Given the description of an element on the screen output the (x, y) to click on. 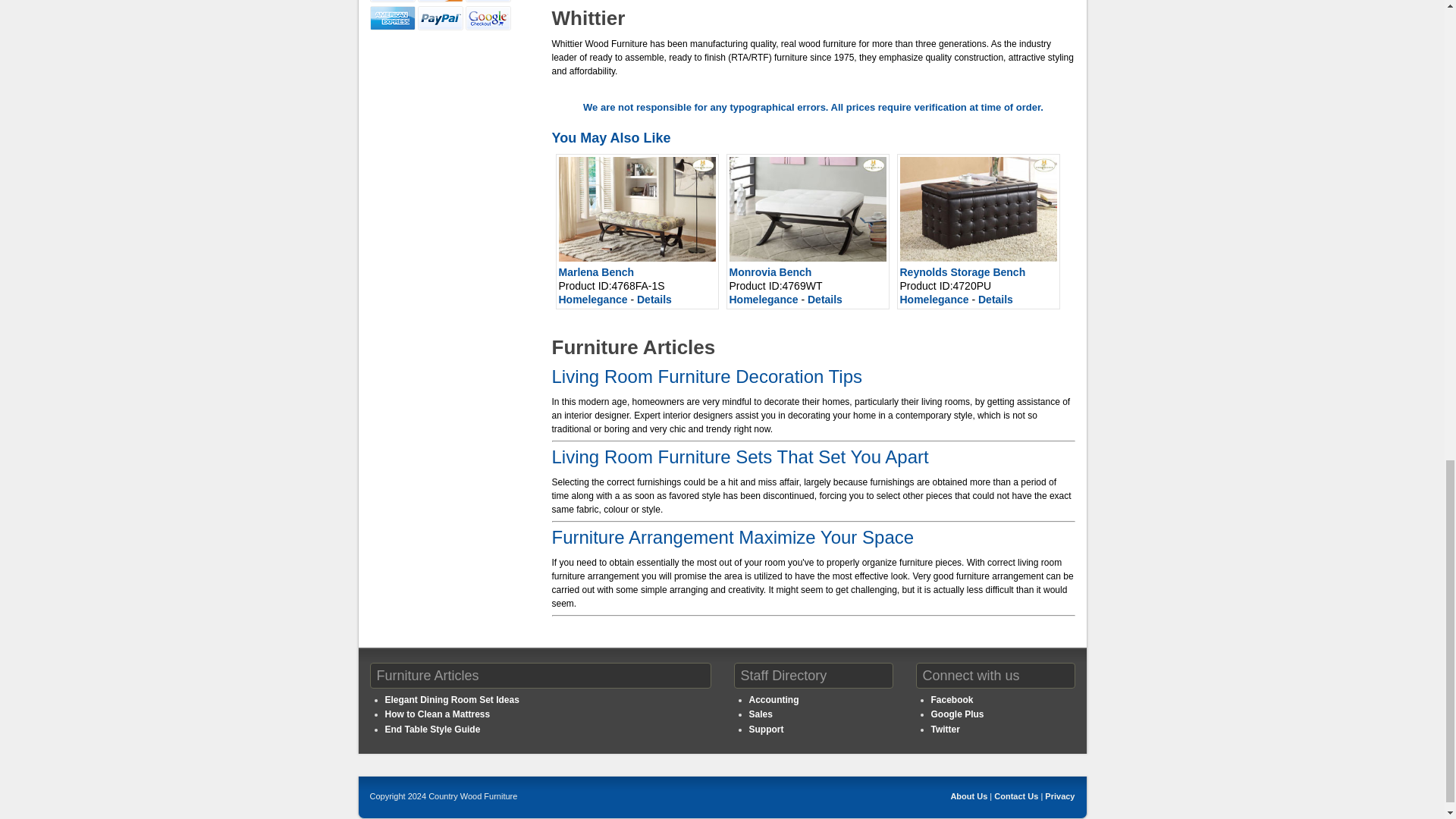
Details (654, 299)
Reynolds Storage Bench (962, 272)
Details (995, 299)
Homelegance Marlena Bench (635, 209)
Homelegance (933, 299)
Homelegance Monrovia Bench (807, 209)
Homelegance (763, 299)
Monrovia Bench (770, 272)
Details (825, 299)
Homelegance Reynolds Storage Bench (978, 209)
Homelegance (592, 299)
Marlena Bench (595, 272)
